Given the description of an element on the screen output the (x, y) to click on. 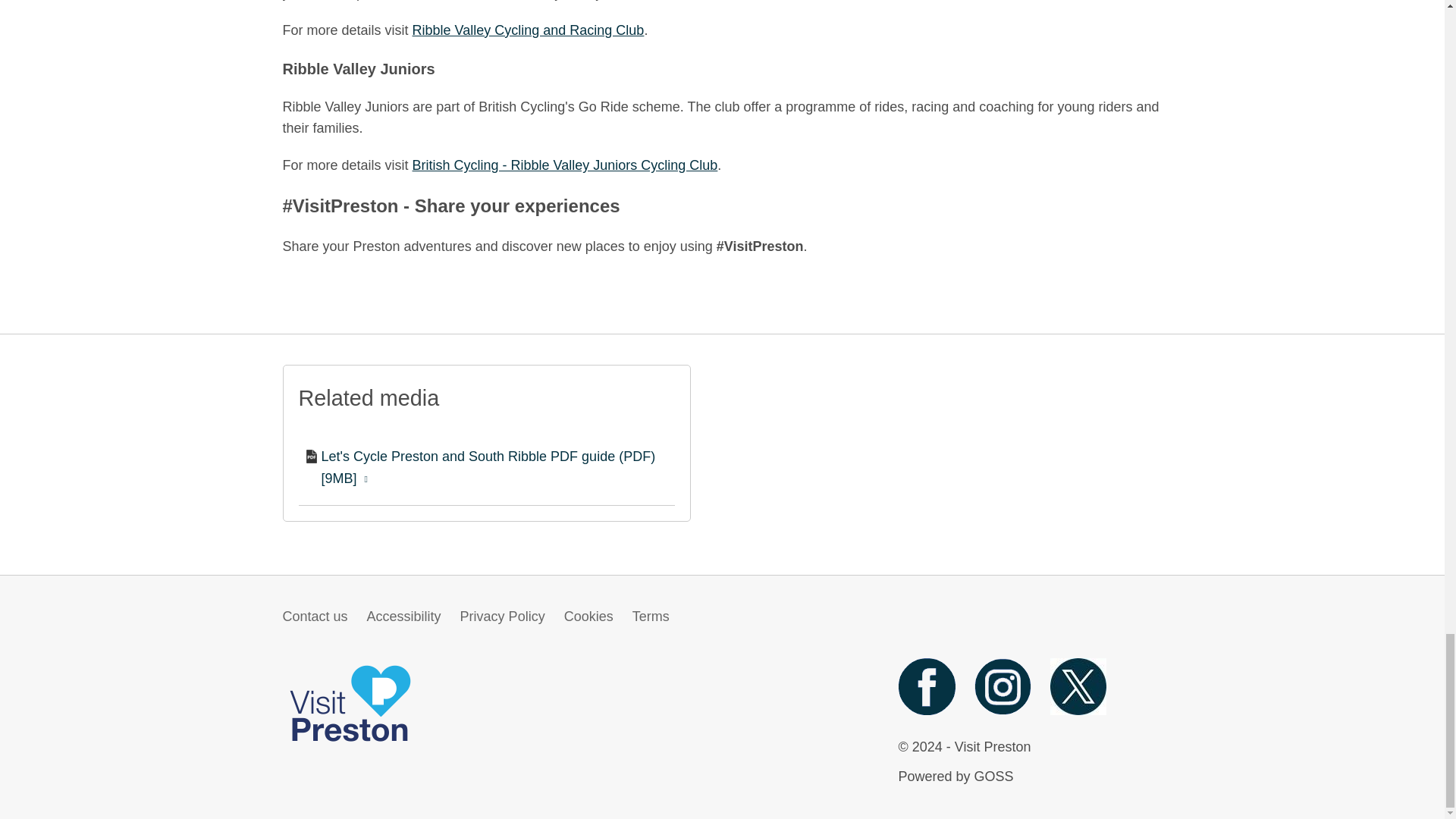
Visit Preston Facebook : opens on new browser window or tab (926, 710)
Visit Preston Instagram : opens on new browser window or tab (1002, 710)
Visit Preston X : opens on new browser window or tab (1077, 710)
